Given the description of an element on the screen output the (x, y) to click on. 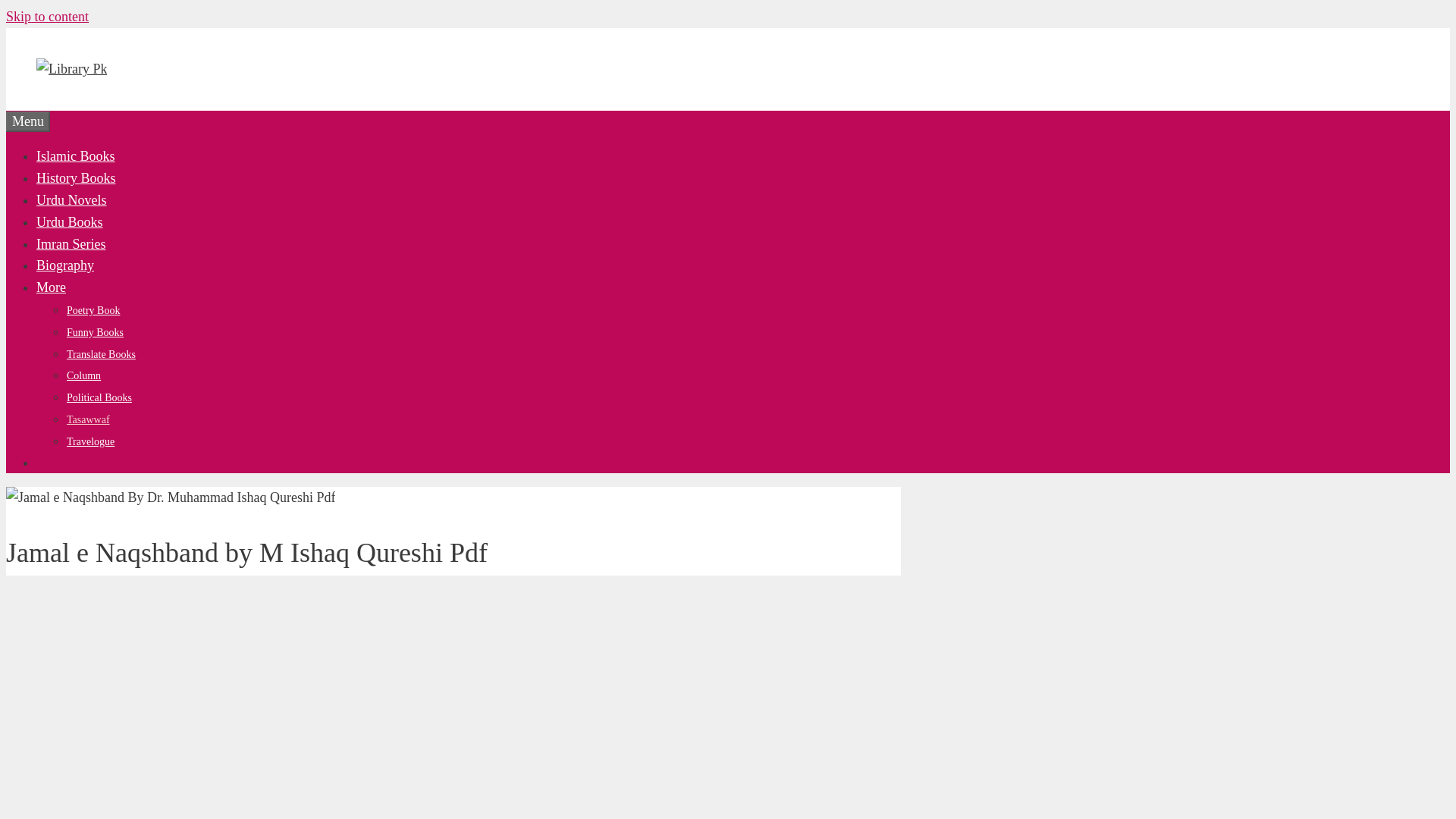
Skip to content (46, 16)
Translate Books (100, 354)
Urdu Books (69, 222)
Column (83, 375)
Funny Books (94, 332)
Poetry Book (92, 310)
Tasawwaf (88, 419)
History Books (76, 177)
Islamic Books (75, 155)
Imran Series (70, 243)
Urdu Novels (71, 200)
Skip to content (46, 16)
Political Books (99, 397)
Biography (65, 264)
More (50, 287)
